Given the description of an element on the screen output the (x, y) to click on. 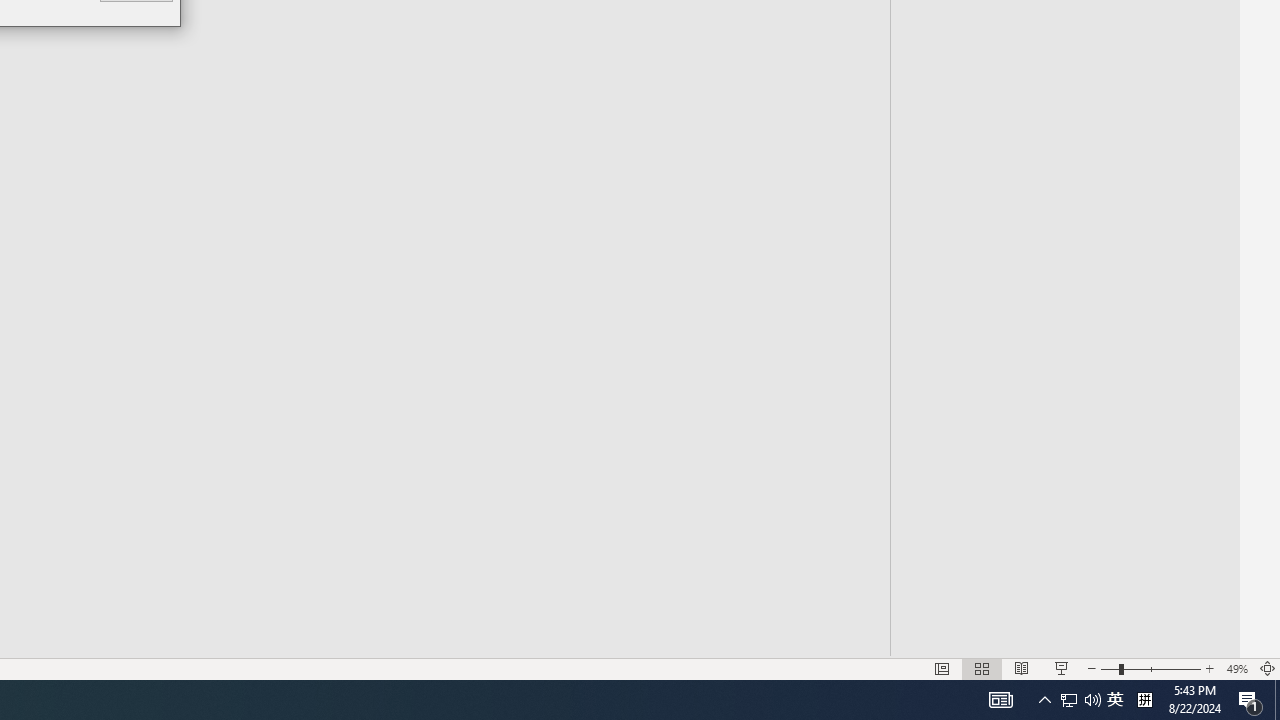
Zoom 49% (1236, 668)
